Given the description of an element on the screen output the (x, y) to click on. 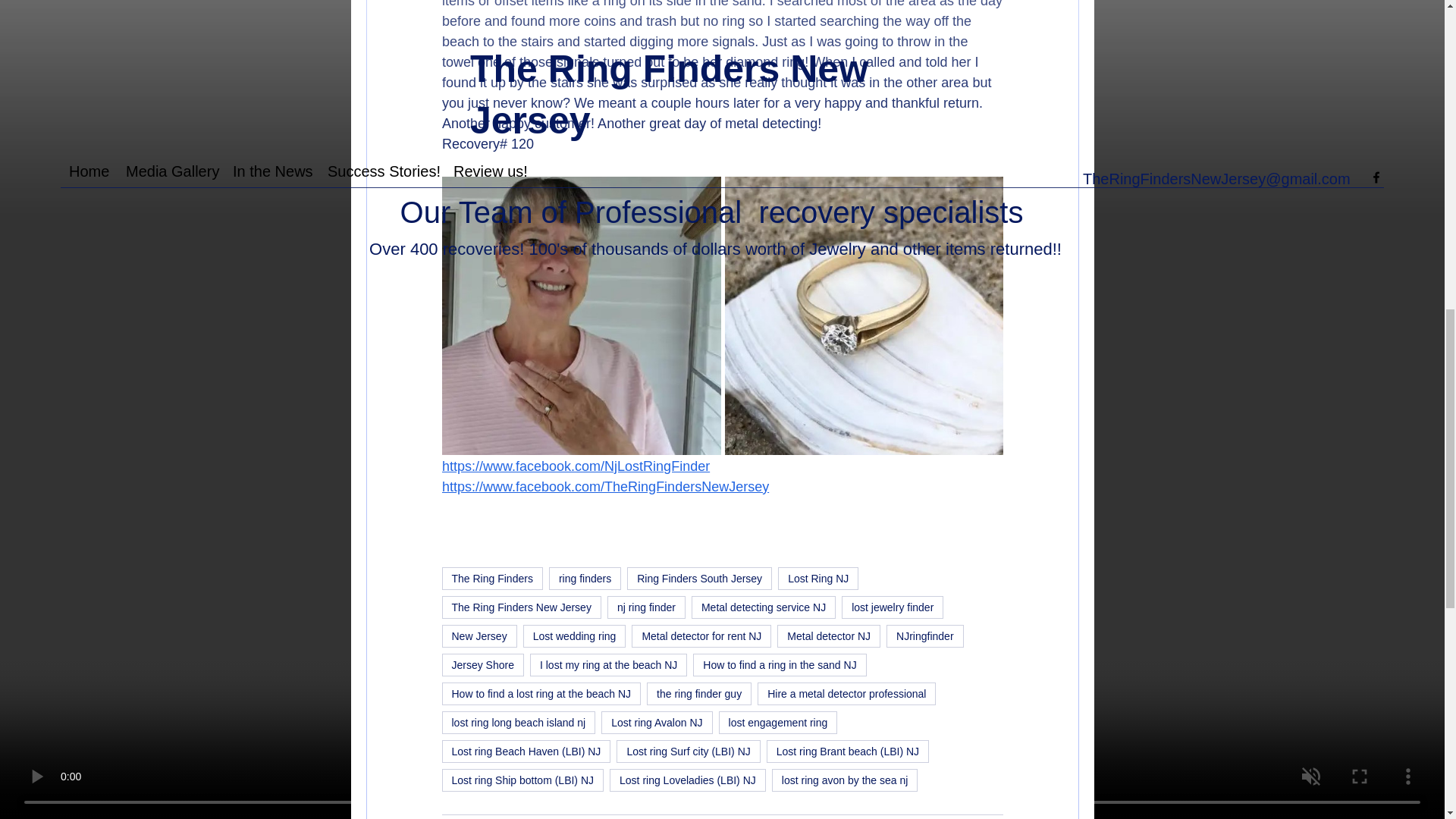
Metal detecting service NJ (763, 607)
Metal detector for rent NJ (701, 635)
Ring Finders South Jersey (699, 578)
How to find a lost ring at the beach NJ (540, 693)
How to find a ring in the sand NJ (779, 664)
I lost my ring at the beach NJ (608, 664)
ring finders (584, 578)
Lost wedding ring (574, 635)
lost jewelry finder (892, 607)
lost ring avon by the sea nj (844, 780)
Lost ring Avalon NJ (656, 722)
Jersey Shore (481, 664)
NJringfinder (924, 635)
New Jersey (478, 635)
The Ring Finders New Jersey (520, 607)
